Given the description of an element on the screen output the (x, y) to click on. 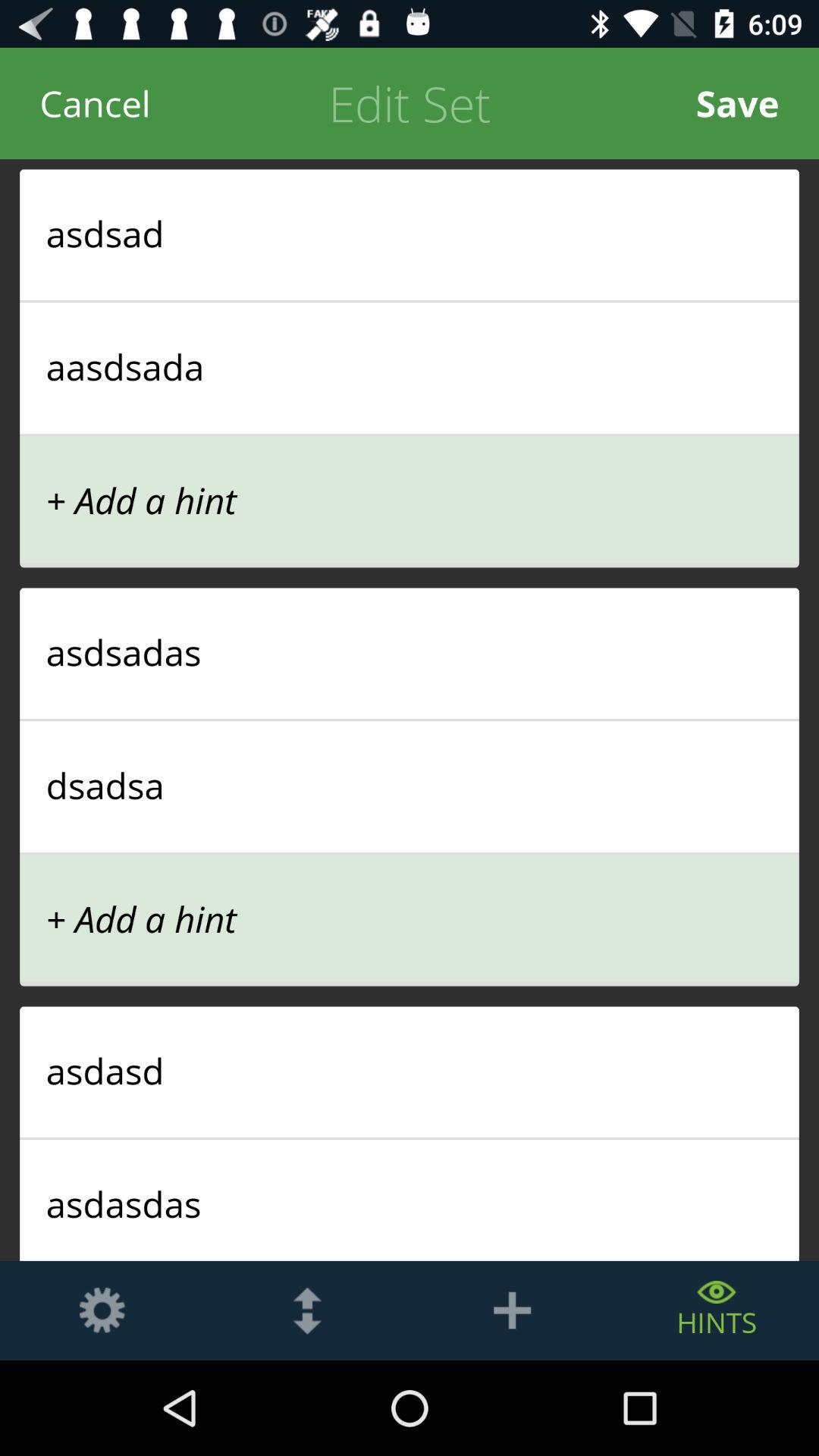
select item next to the edit set icon (737, 103)
